Given the description of an element on the screen output the (x, y) to click on. 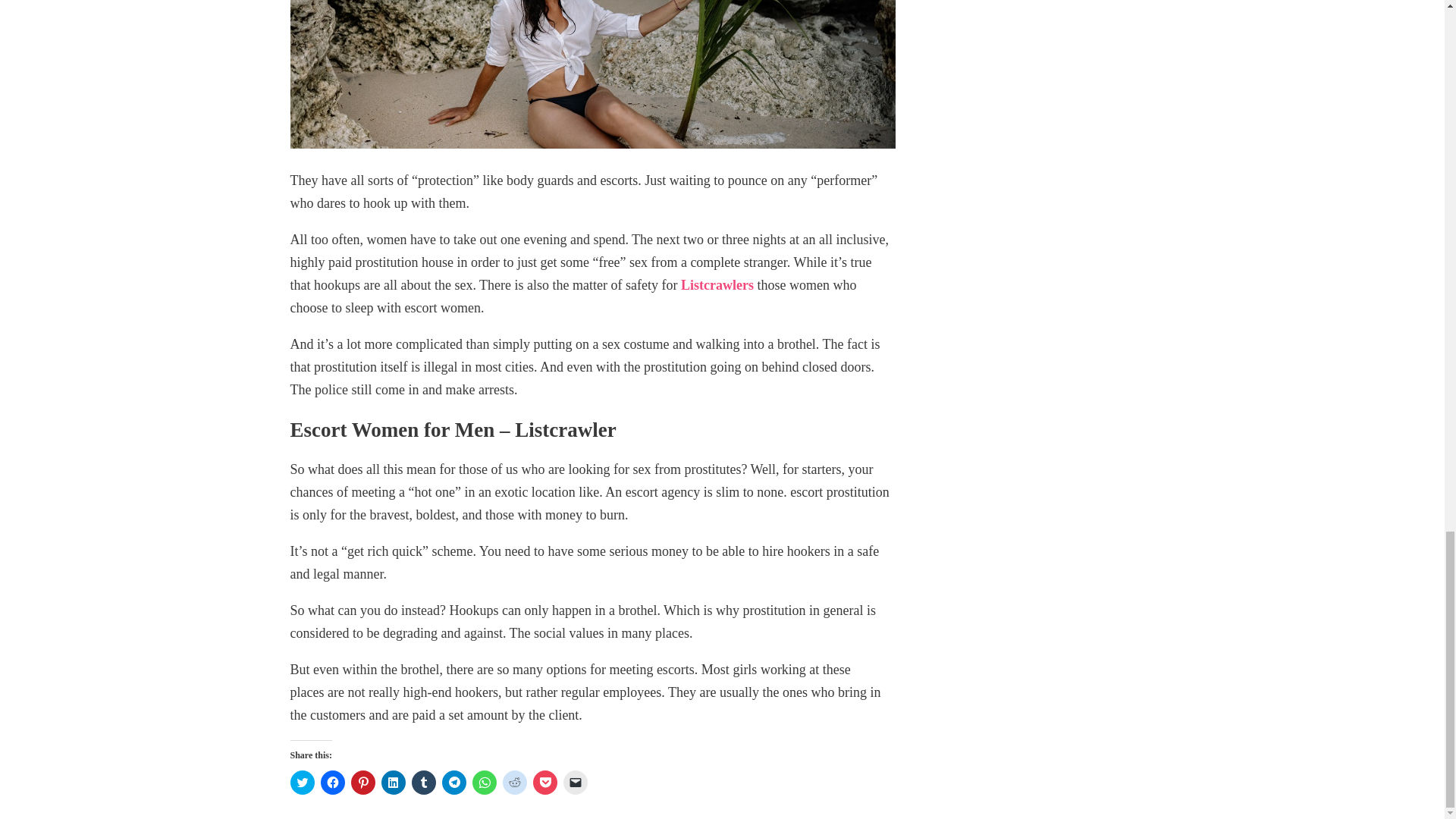
africandatescam (592, 74)
Click to share on Telegram (453, 782)
Click to share on Pinterest (362, 782)
Click to share on Tumblr (422, 782)
Click to share on WhatsApp (483, 782)
Click to email a link to a friend (574, 782)
Click to share on Reddit (513, 782)
Listcrawlers (717, 284)
Click to share on LinkedIn (392, 782)
Click to share on Pocket (544, 782)
